Given the description of an element on the screen output the (x, y) to click on. 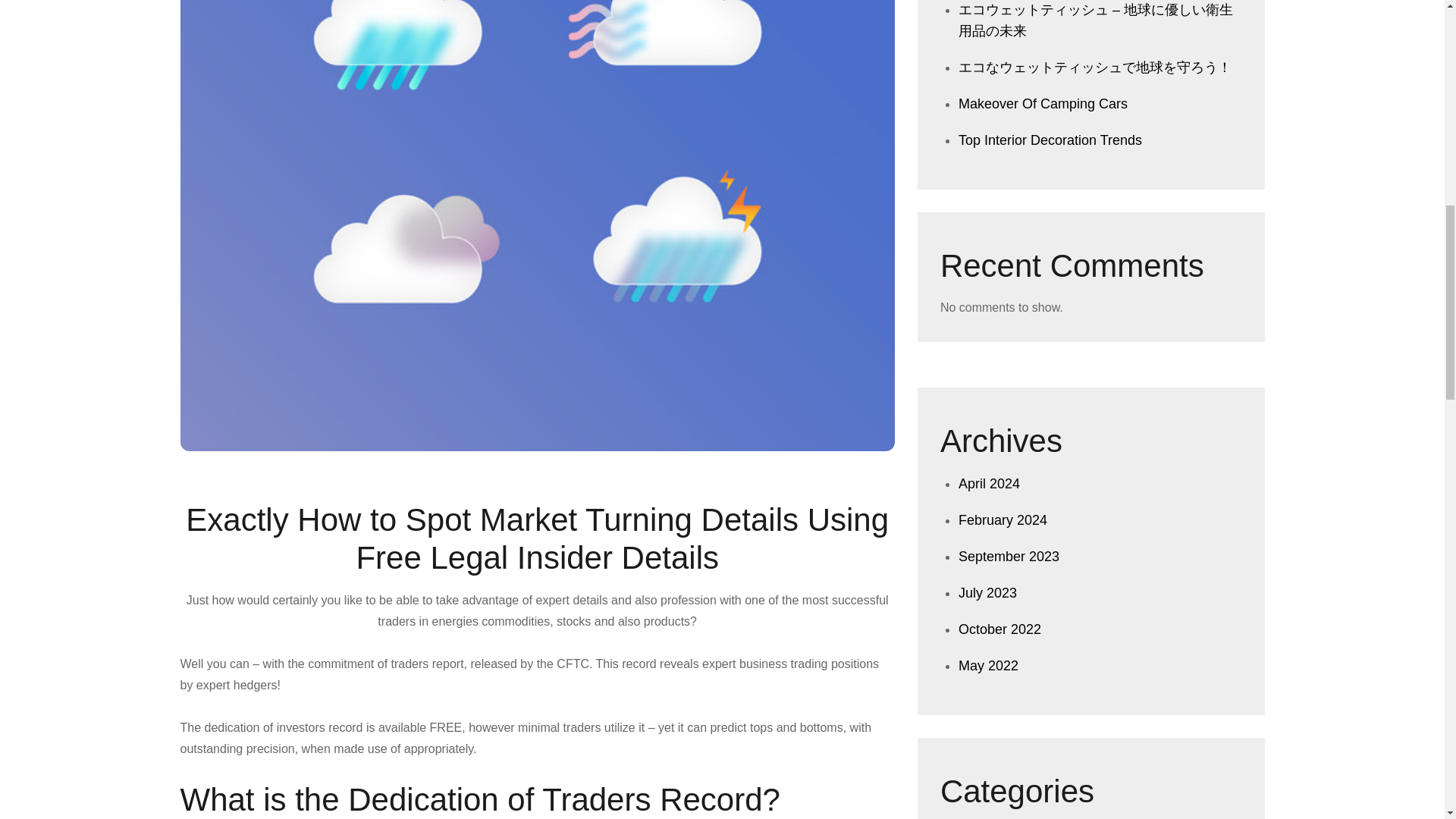
February 2024 (1002, 519)
Top Interior Decoration Trends (1049, 140)
July 2023 (987, 592)
October 2022 (999, 629)
May 2022 (987, 665)
September 2023 (1008, 556)
April 2024 (989, 483)
Makeover Of Camping Cars (1042, 103)
